Given the description of an element on the screen output the (x, y) to click on. 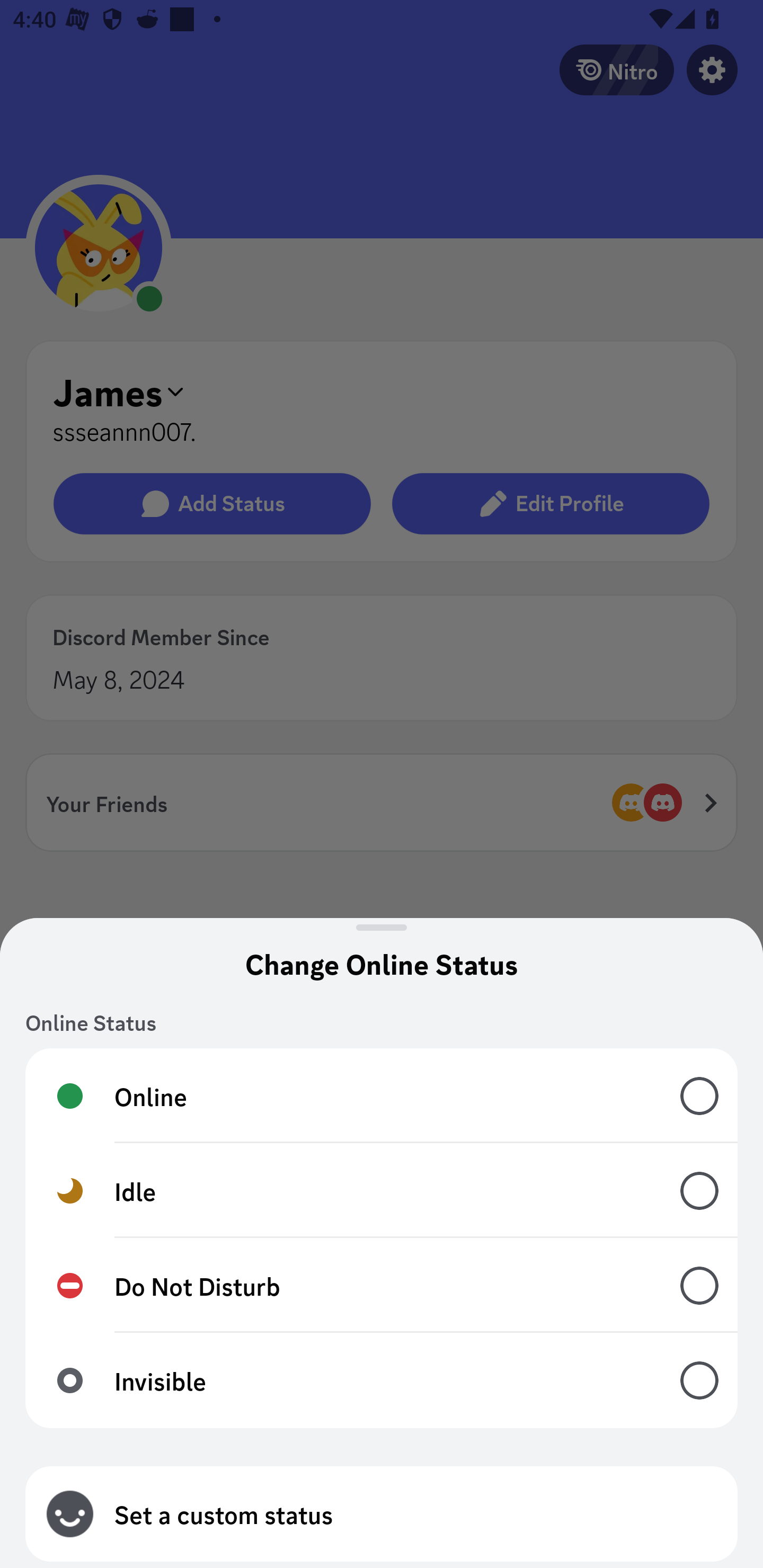
Online,  Online (381, 1095)
Idle,  Idle (381, 1190)
Do Not Disturb,  Do Not Disturb (381, 1285)
Invisible,  Invisible (381, 1380)
Set a custom status (381, 1513)
